Given the description of an element on the screen output the (x, y) to click on. 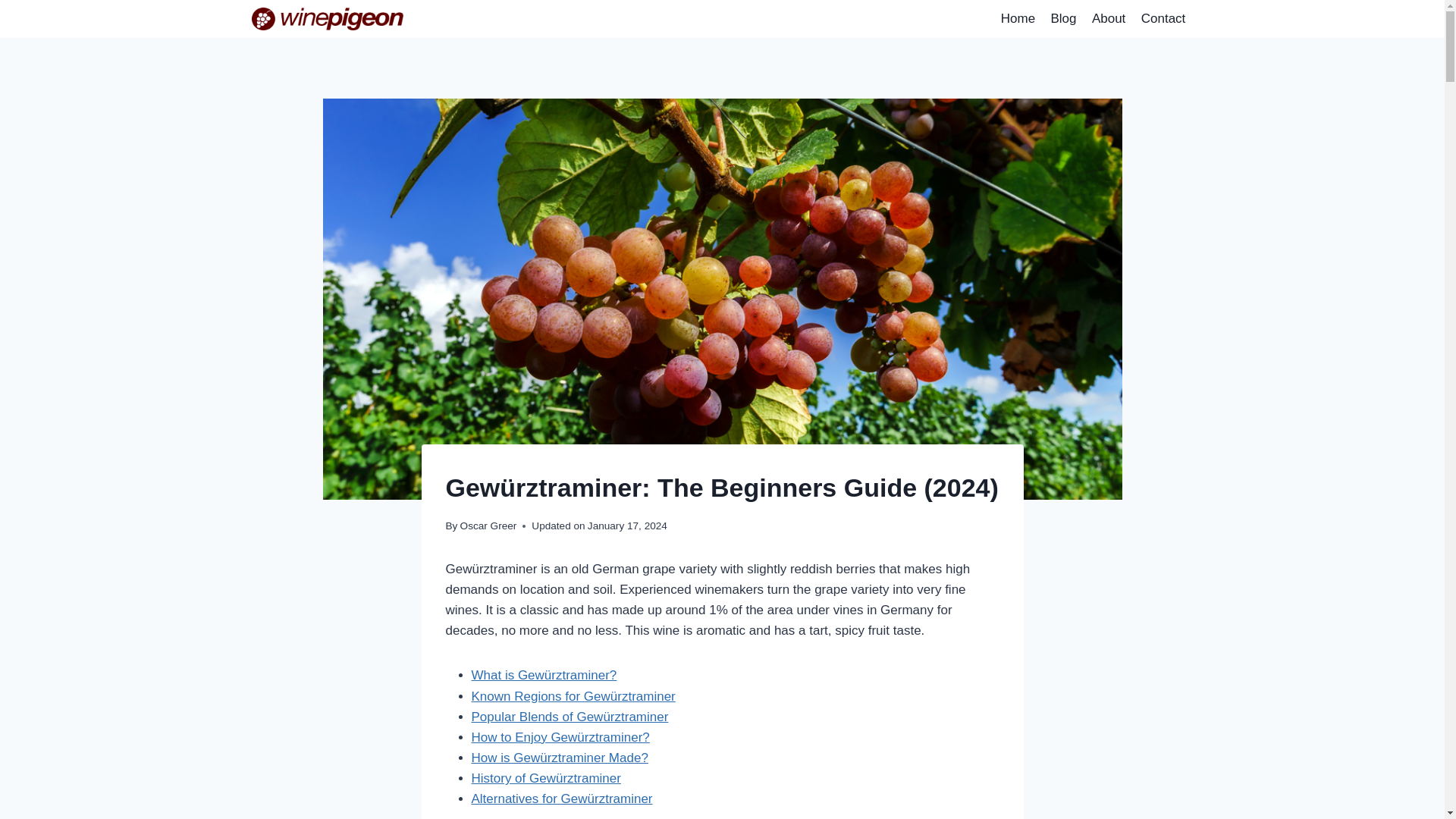
Home (1017, 18)
About (1109, 18)
Oscar Greer (488, 525)
Blog (1062, 18)
Contact (1163, 18)
